Given the description of an element on the screen output the (x, y) to click on. 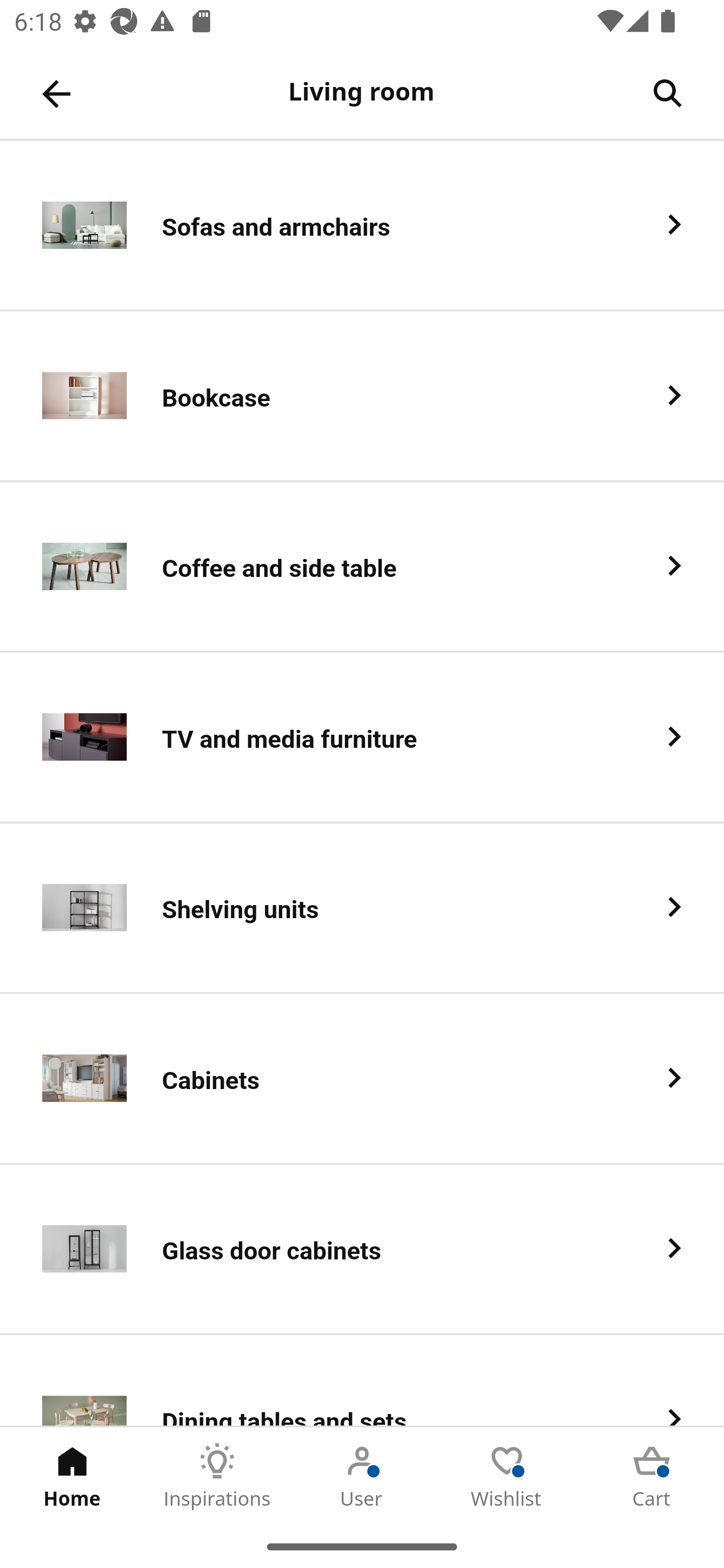
Sofas and armchairs (362, 226)
Bookcase (362, 396)
Coffee and side table (362, 566)
TV and media furniture (362, 737)
Shelving units (362, 908)
Cabinets (362, 1079)
Glass door cabinets (362, 1250)
Home
Tab 1 of 5 (72, 1476)
Inspirations
Tab 2 of 5 (216, 1476)
User
Tab 3 of 5 (361, 1476)
Wishlist
Tab 4 of 5 (506, 1476)
Cart
Tab 5 of 5 (651, 1476)
